Given the description of an element on the screen output the (x, y) to click on. 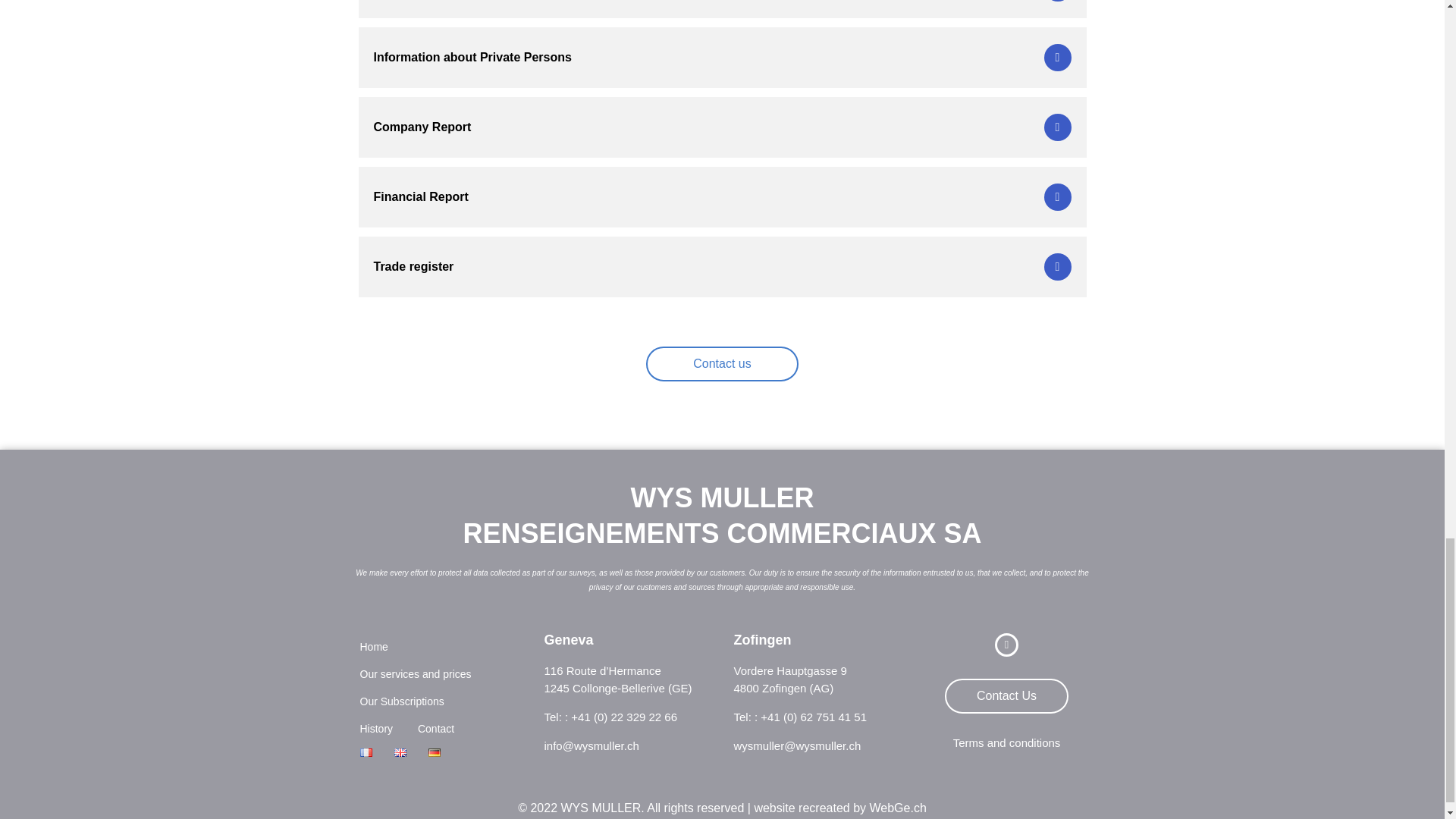
Contact us (721, 363)
Home (374, 646)
Our services and prices (416, 673)
 Contact (434, 728)
History (376, 728)
Our Subscriptions (402, 700)
